Given the description of an element on the screen output the (x, y) to click on. 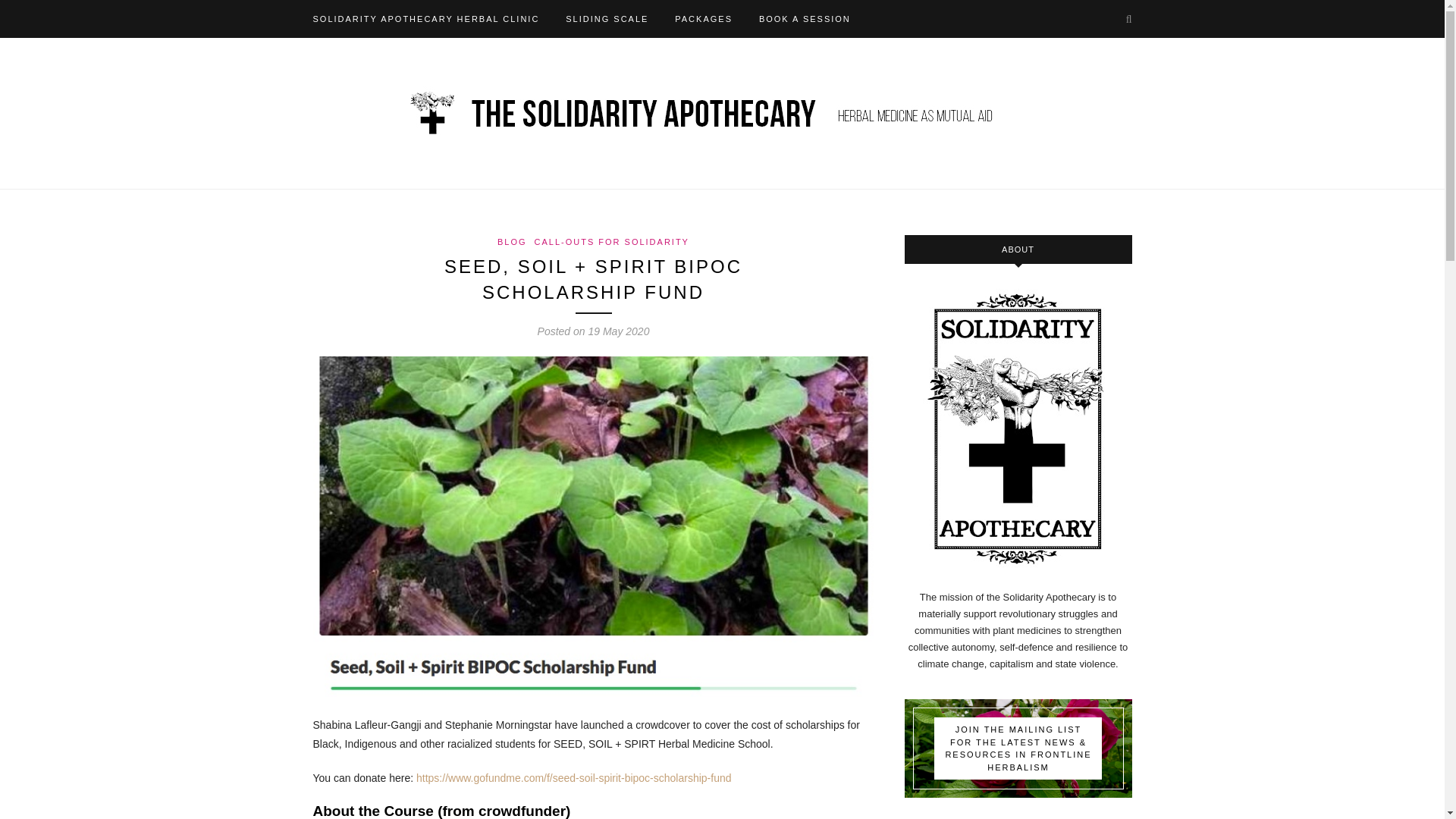
BOOK A SESSION (804, 18)
SLIDING SCALE (606, 18)
PACKAGES (703, 18)
SOLIDARITY APOTHECARY HERBAL CLINIC (425, 18)
BLOG (512, 241)
CALL-OUTS FOR SOLIDARITY (611, 241)
